Given the description of an element on the screen output the (x, y) to click on. 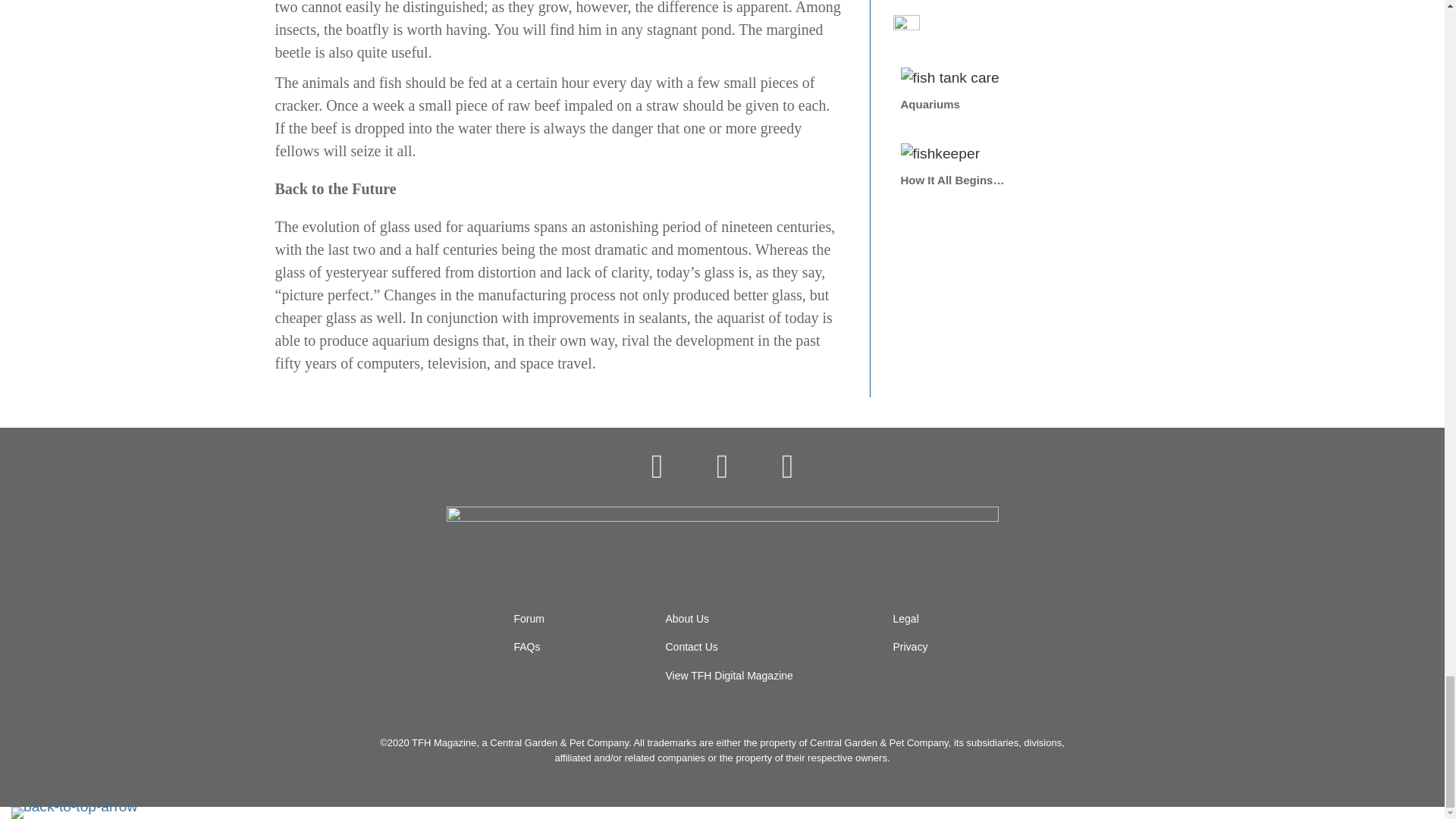
Legal (905, 618)
Privacy (910, 646)
FAQs (526, 646)
Contact Us (691, 646)
Forum (528, 618)
About Us (687, 618)
View TFH Digital Magazine (729, 675)
